Given the description of an element on the screen output the (x, y) to click on. 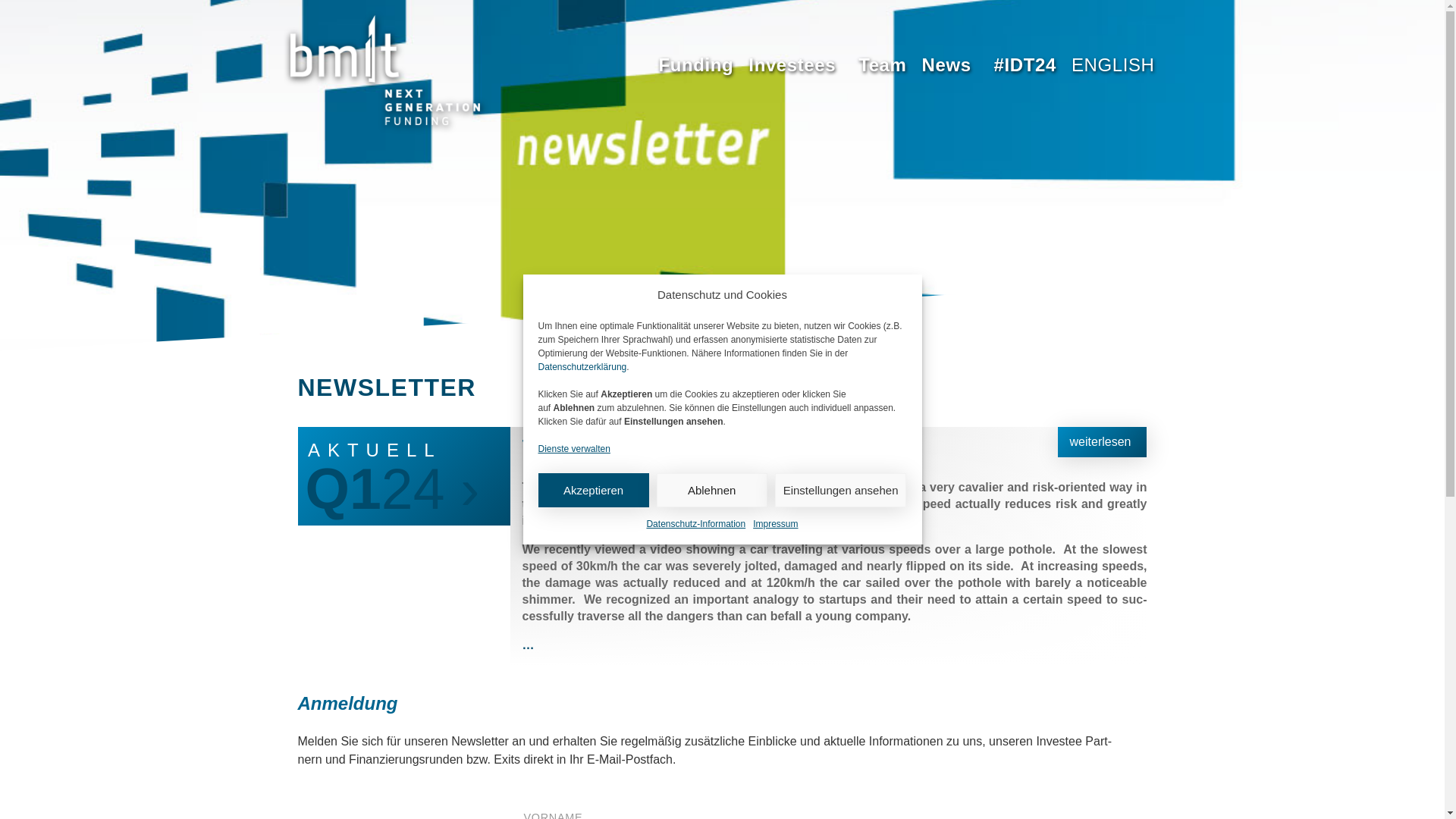
Akzeptieren (593, 489)
Impressum (774, 524)
Dienste verwalten (574, 448)
Einstellungen ansehen (840, 489)
Datenschutz-Information (695, 524)
Ablehnen (711, 489)
English (1112, 64)
